Given the description of an element on the screen output the (x, y) to click on. 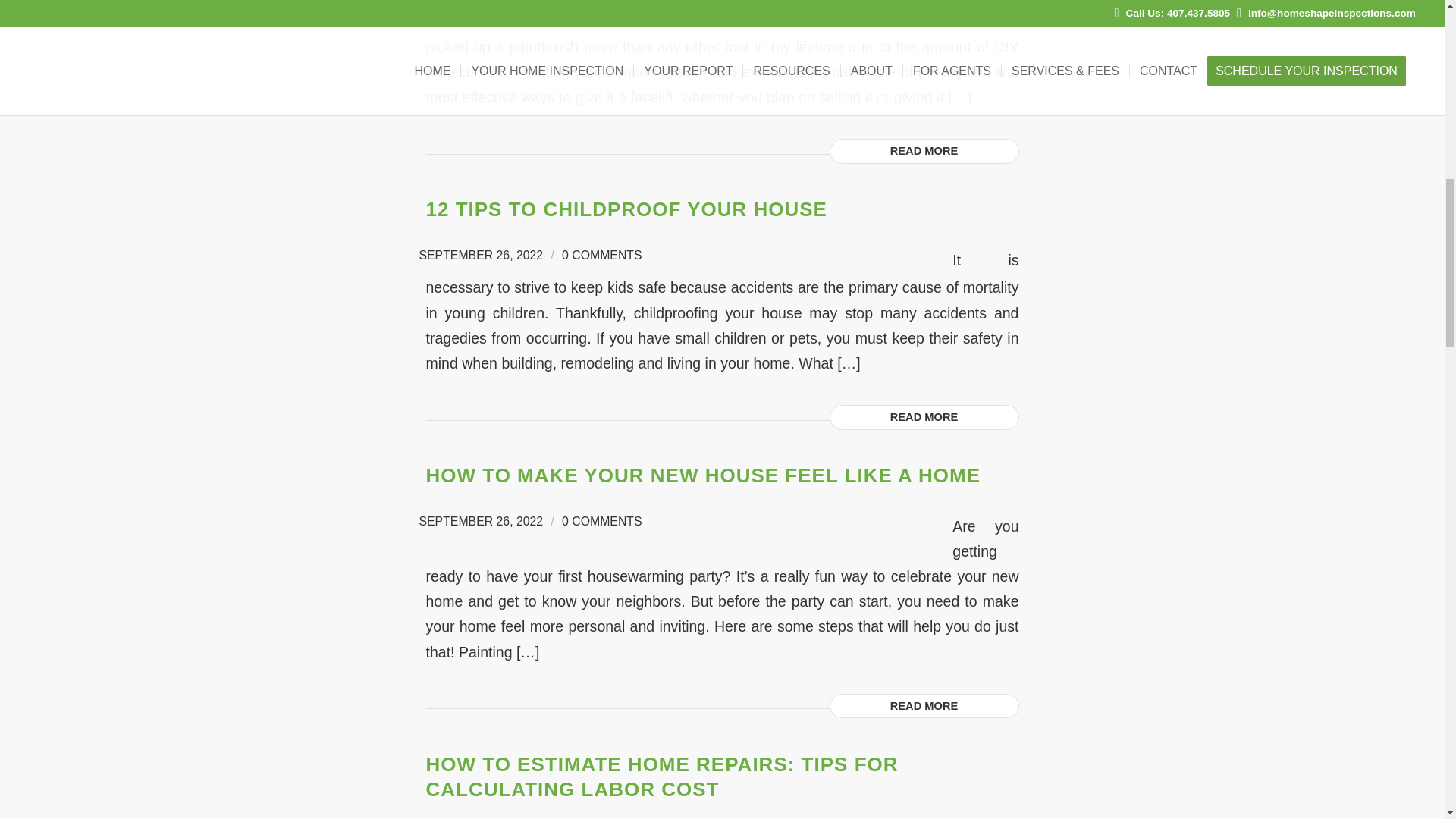
Permanent Link: How to Make Your New House Feel Like a Home (703, 475)
READ MORE (924, 706)
0 COMMENTS (602, 521)
HOW TO MAKE YOUR NEW HOUSE FEEL LIKE A HOME (703, 475)
0 COMMENTS (602, 254)
Permanent Link: 12 Tips to Childproof Your House (626, 209)
12 TIPS TO CHILDPROOF YOUR HOUSE (626, 209)
READ MORE (924, 150)
